Given the description of an element on the screen output the (x, y) to click on. 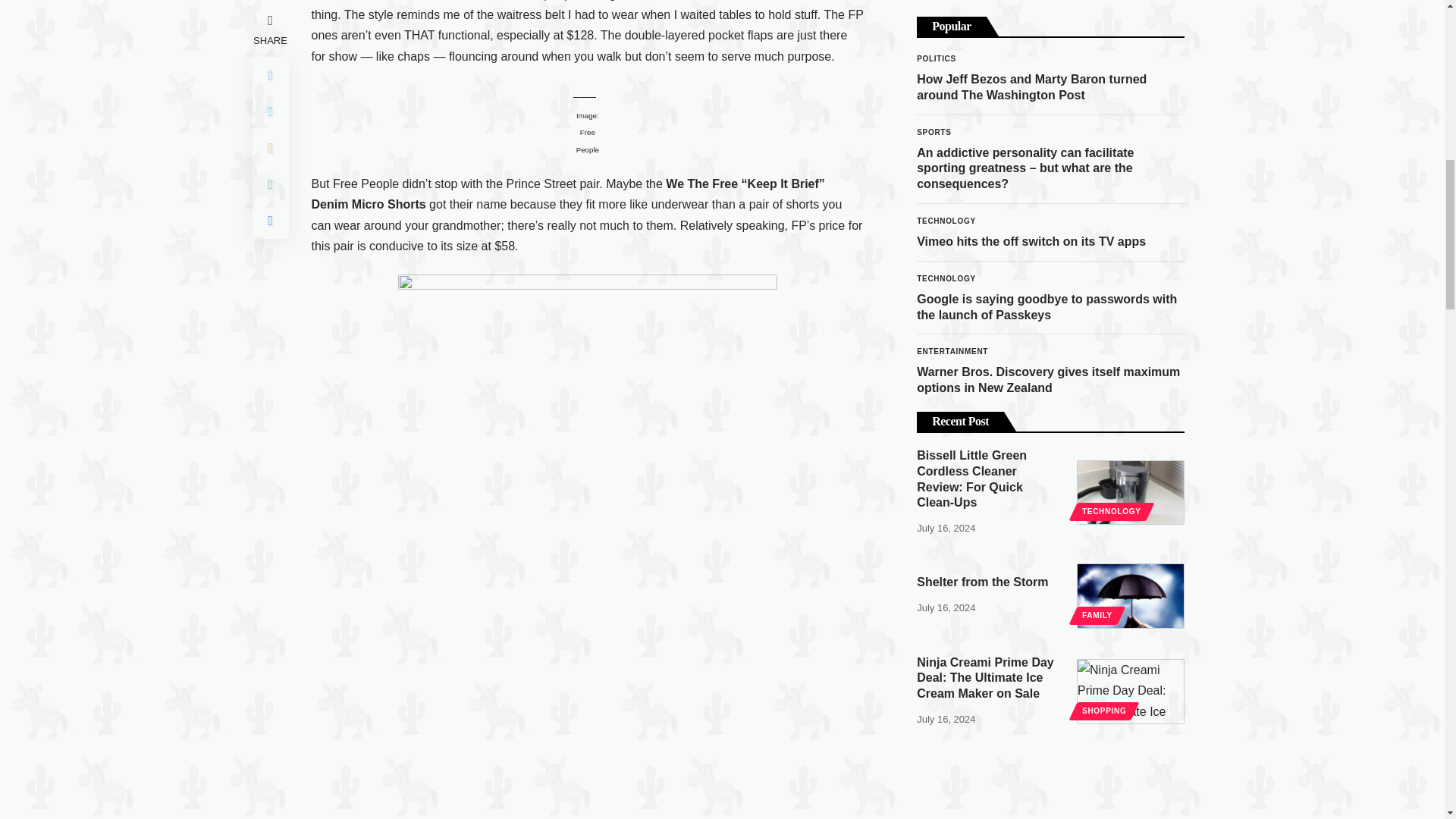
Shelter from the Storm (1131, 344)
